Given the description of an element on the screen output the (x, y) to click on. 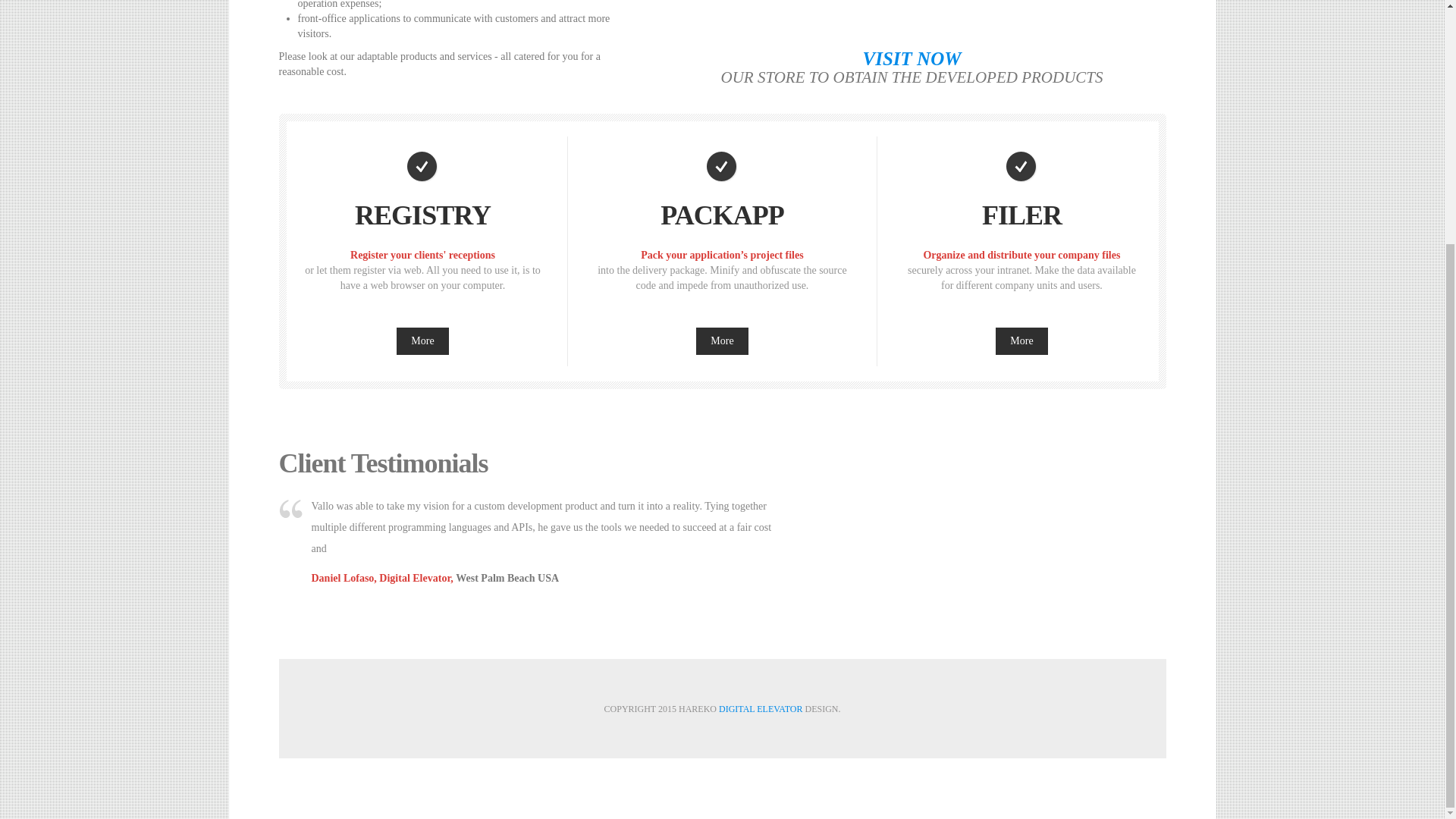
More (721, 340)
More (721, 340)
VISIT NOW (911, 58)
DIGITAL ELEVATOR (760, 708)
More (1020, 340)
More (422, 340)
More (1020, 340)
More (422, 340)
